Given the description of an element on the screen output the (x, y) to click on. 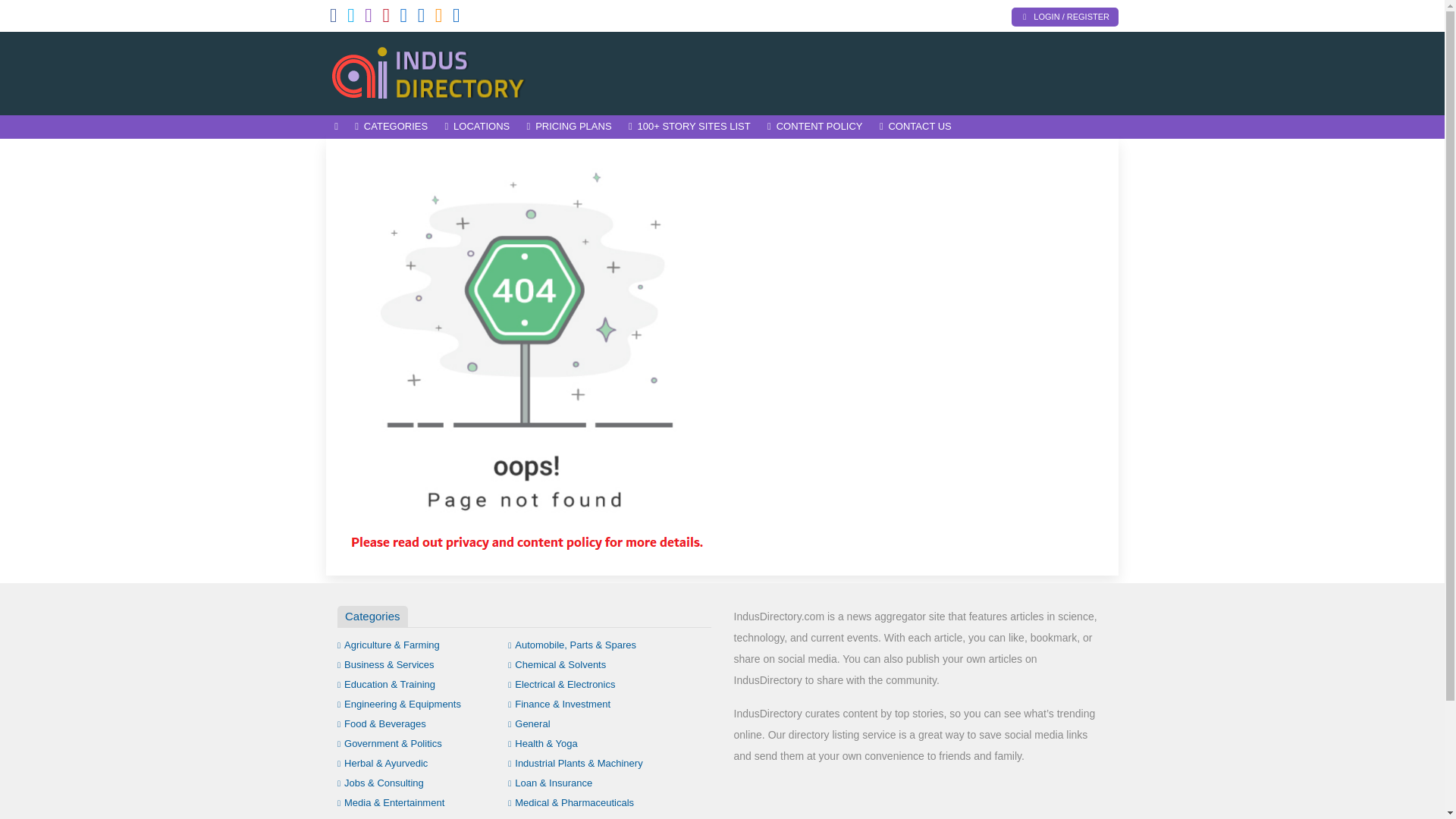
PRICING PLANS (569, 126)
General (529, 723)
LOCATIONS (476, 126)
CONTACT US (914, 126)
CONTENT POLICY (814, 126)
CATEGORIES (390, 126)
